Given the description of an element on the screen output the (x, y) to click on. 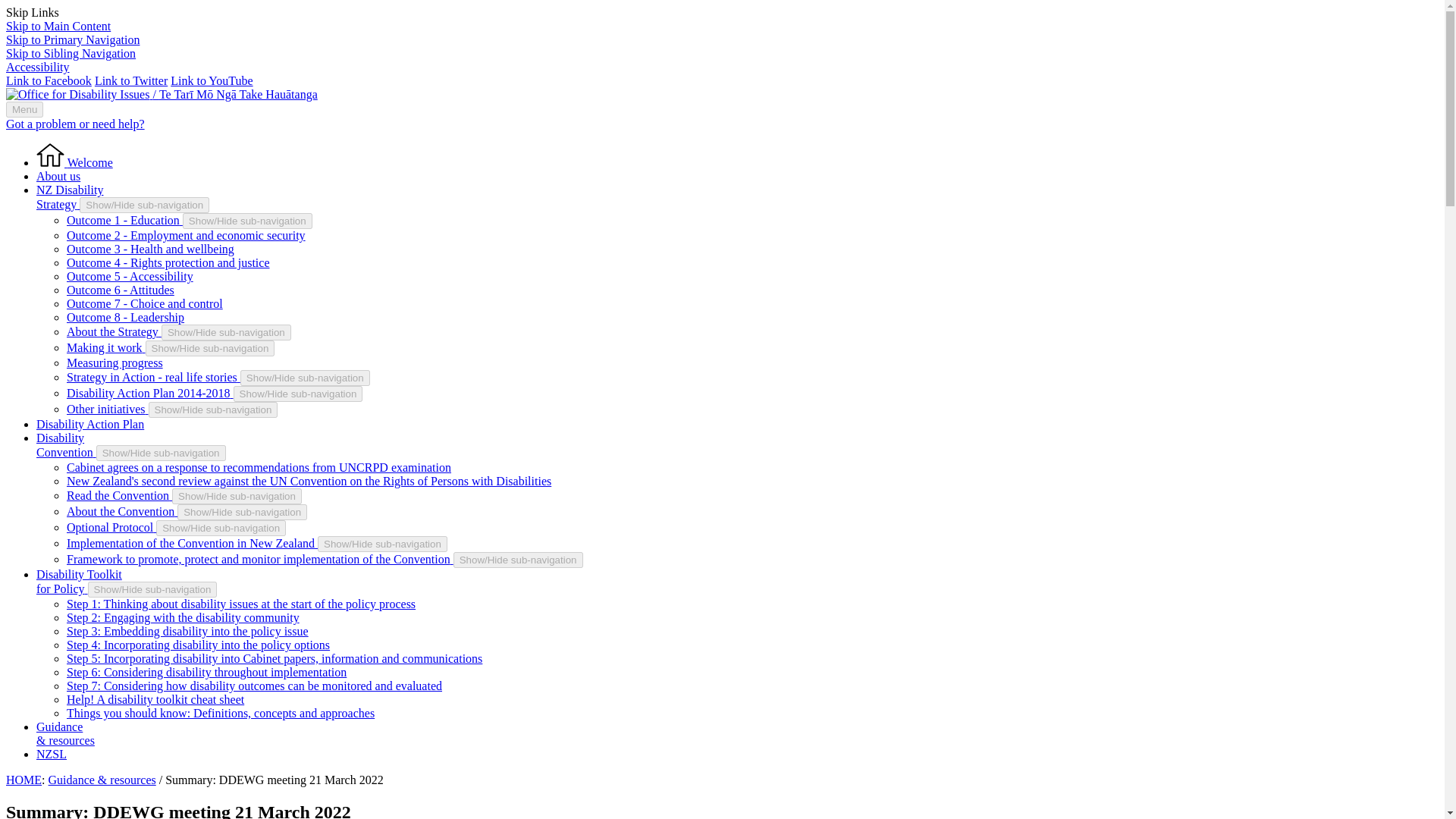
Disability Action Plan 2014-2018 (149, 392)
Got a problem or need help? (69, 196)
Welcome (74, 123)
Outcome 8 - Leadership (74, 162)
Skip to Main Content (125, 317)
Outcome 1 - Education (57, 25)
About the Strategy (124, 219)
Outcome 3 - Health and wellbeing (113, 331)
